Given the description of an element on the screen output the (x, y) to click on. 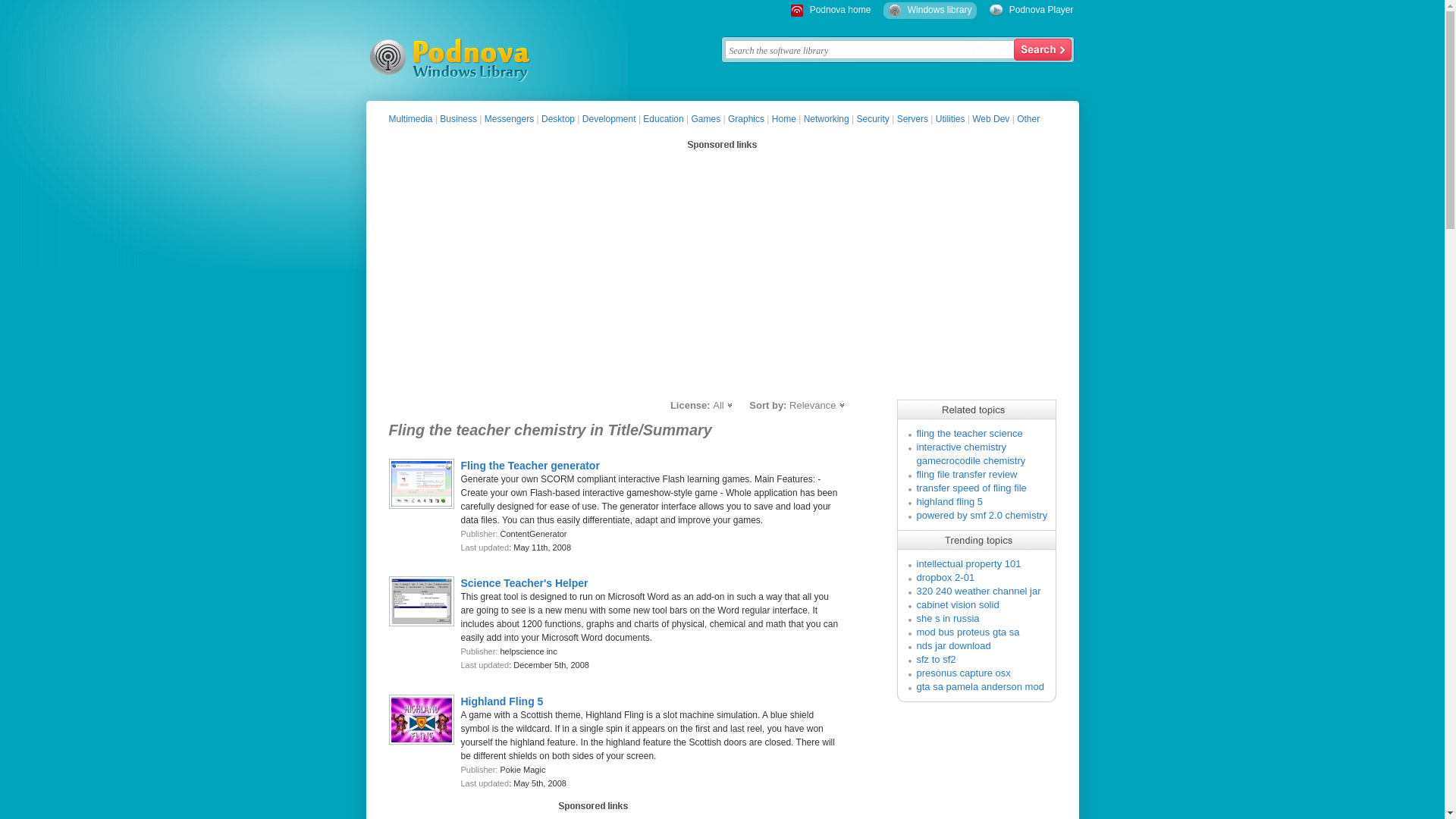
Games (705, 118)
Web Dev (990, 118)
Windows library (939, 9)
Security (872, 118)
Advertisement (593, 817)
Desktop (558, 118)
Business (458, 118)
Highland Fling 5 (502, 700)
Home (783, 118)
Networking (825, 118)
Science Teacher's Helper (524, 582)
Fling the Teacher generator (530, 465)
Podnova Player (1041, 9)
Development (609, 118)
Graphics (746, 118)
